Given the description of an element on the screen output the (x, y) to click on. 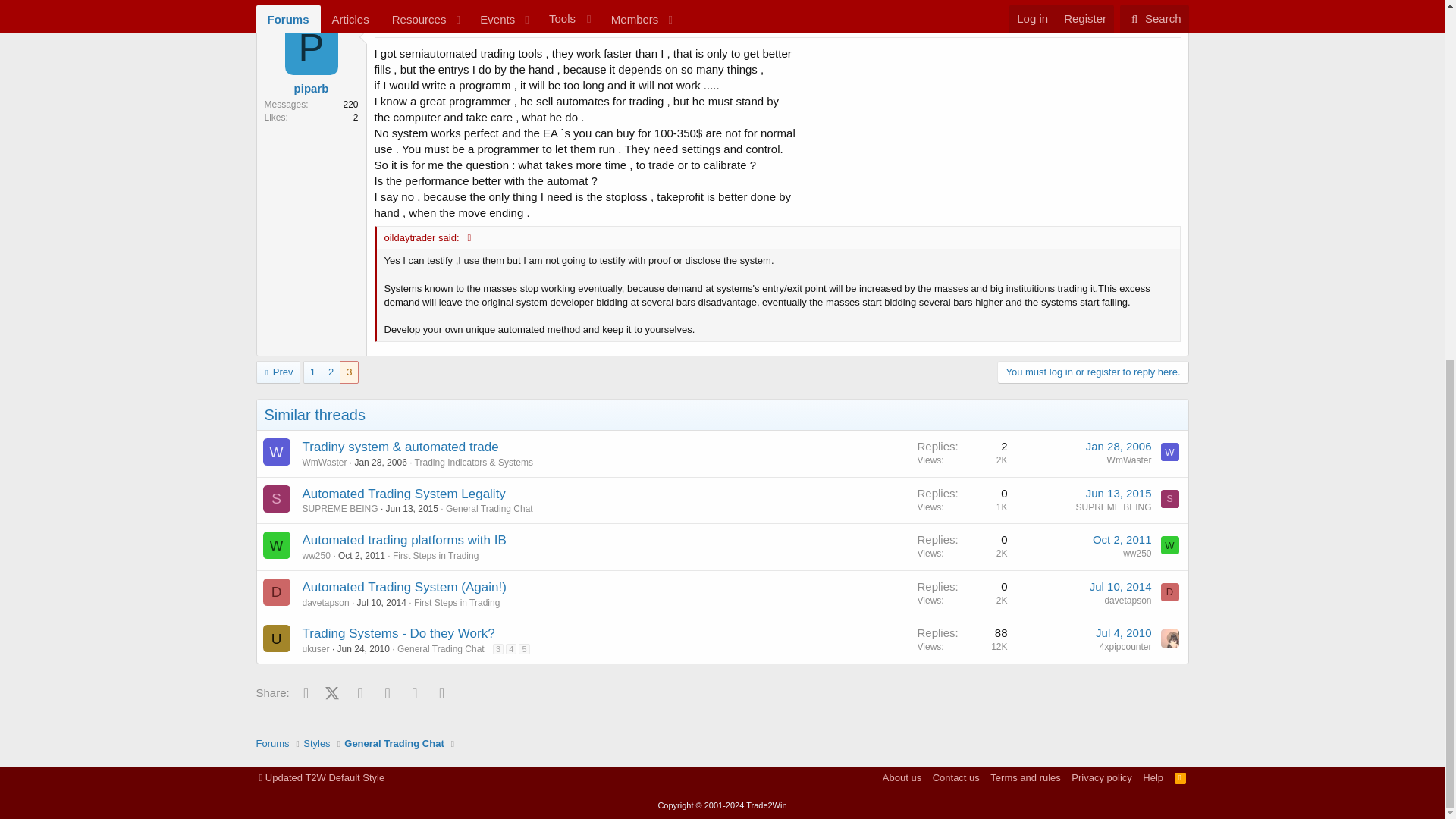
Jun 13, 2015 at 11:29 AM (1118, 492)
Jan 6, 2010 at 11:31 AM (398, 27)
Jan 28, 2006 at 12:49 PM (379, 462)
Jun 13, 2015 at 11:29 AM (411, 508)
First message reaction score: 0 (962, 499)
First message reaction score: 0 (962, 453)
Jan 28, 2006 at 3:37 PM (1118, 445)
